Given the description of an element on the screen output the (x, y) to click on. 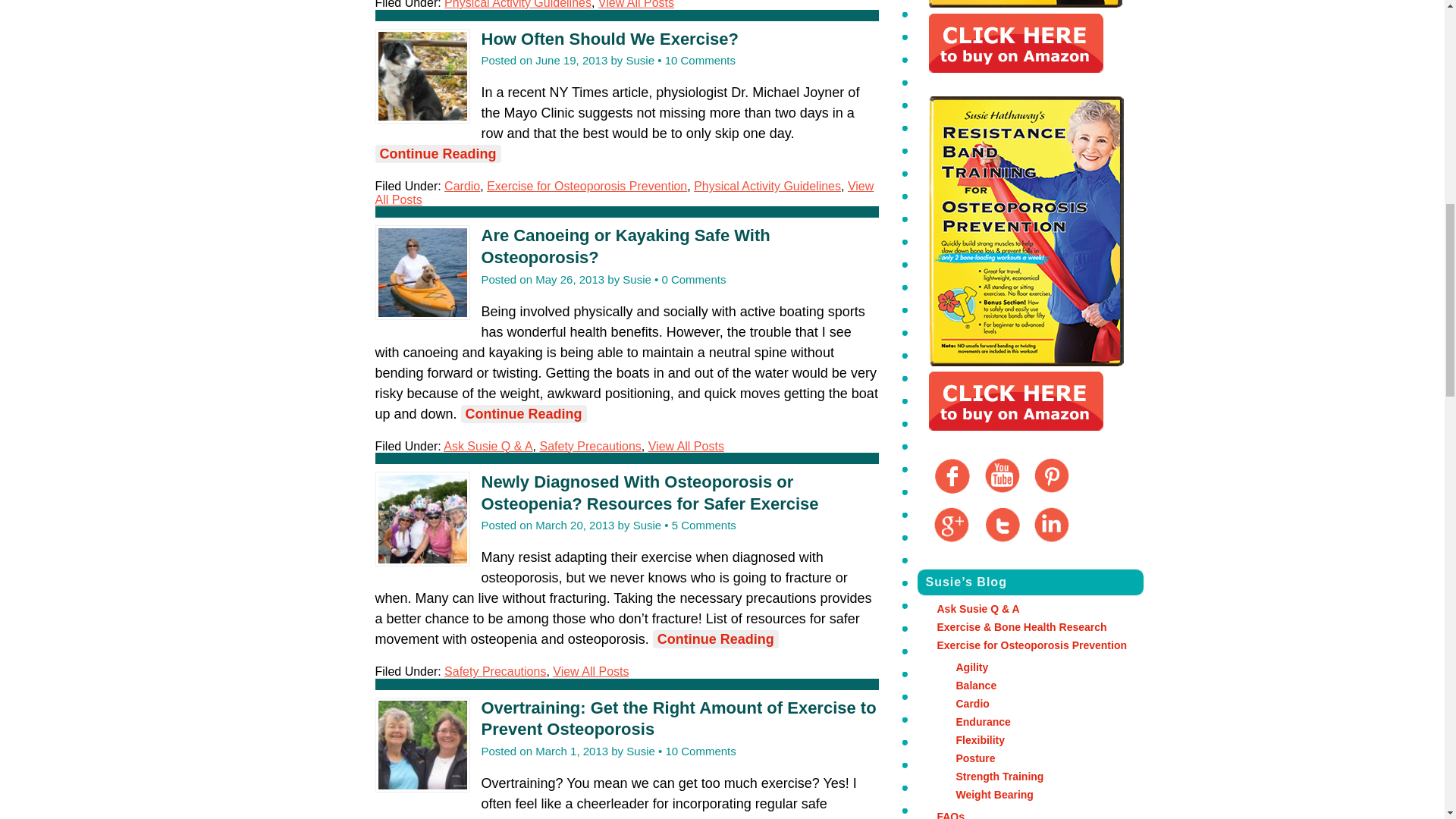
10 Comments (700, 60)
0 Comments (693, 278)
Are Canoeing or Kayaking Safe With Osteoporosis? (625, 246)
Physical Activity Guidelines (517, 4)
Continue Reading (437, 153)
View all posts by Susie (636, 278)
Susie (640, 60)
Continue Reading (523, 413)
How Often Should We Exercise? (609, 38)
Cardio (462, 185)
